Given the description of an element on the screen output the (x, y) to click on. 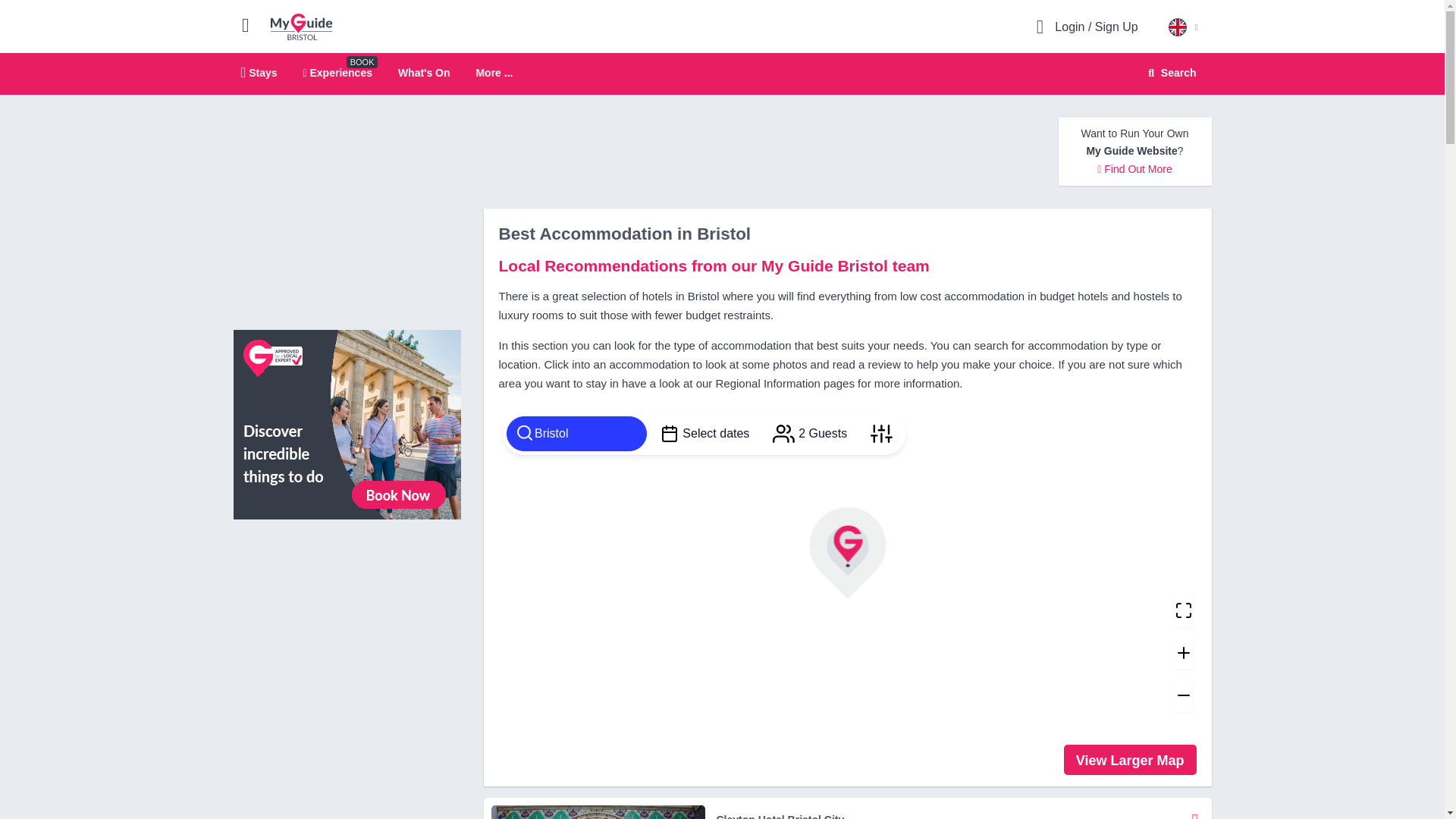
GetYourGuide Widget (346, 599)
Add to My Guide (1195, 812)
View All Experiences (346, 423)
Search (1169, 72)
My Guide Bristol (300, 25)
Larger Map for Company: Accommodation  (1130, 759)
Experiences (337, 72)
Stays (259, 72)
What's On (423, 72)
More ... (721, 74)
